Given the description of an element on the screen output the (x, y) to click on. 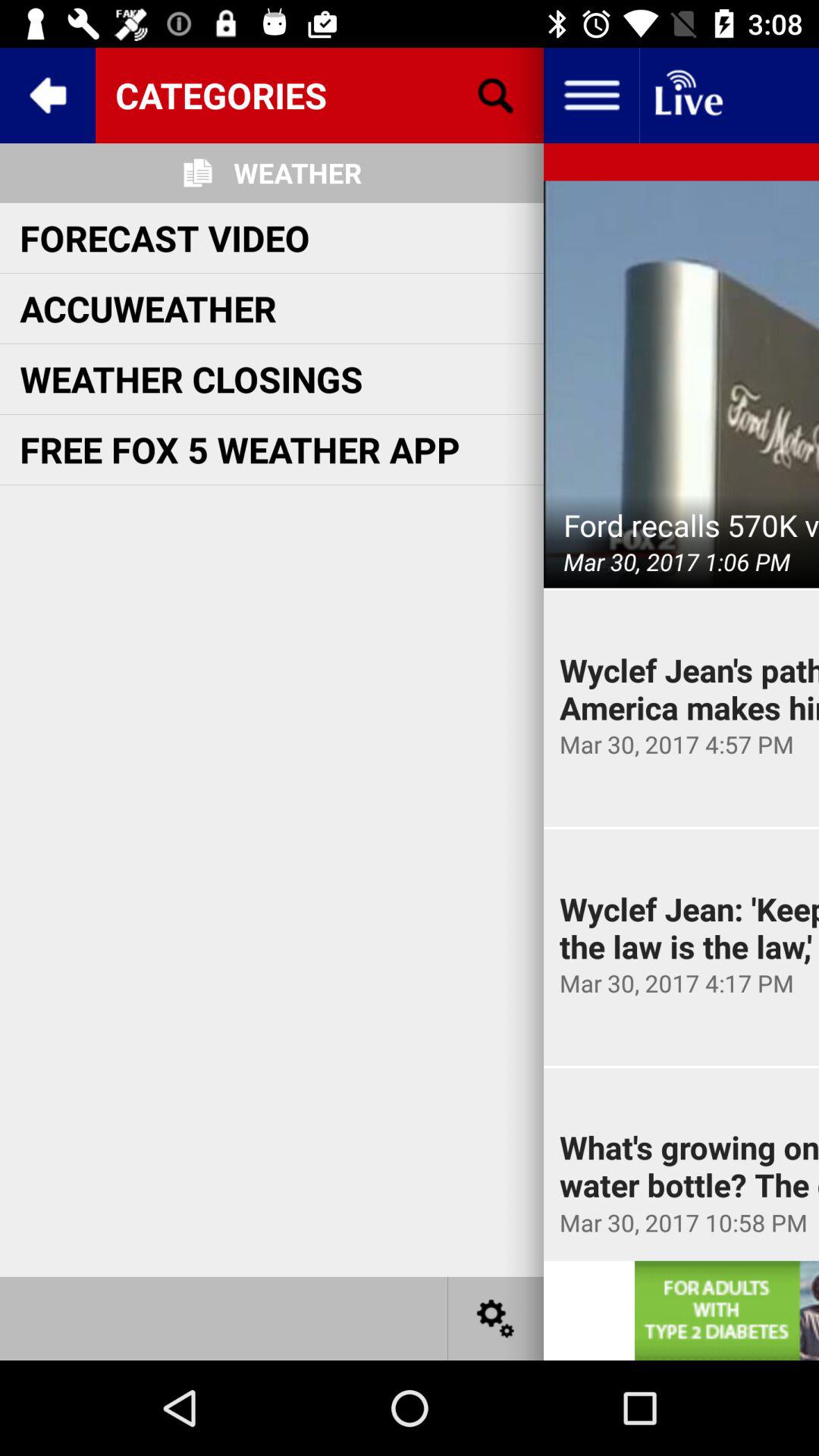
click for settings (495, 1318)
